Given the description of an element on the screen output the (x, y) to click on. 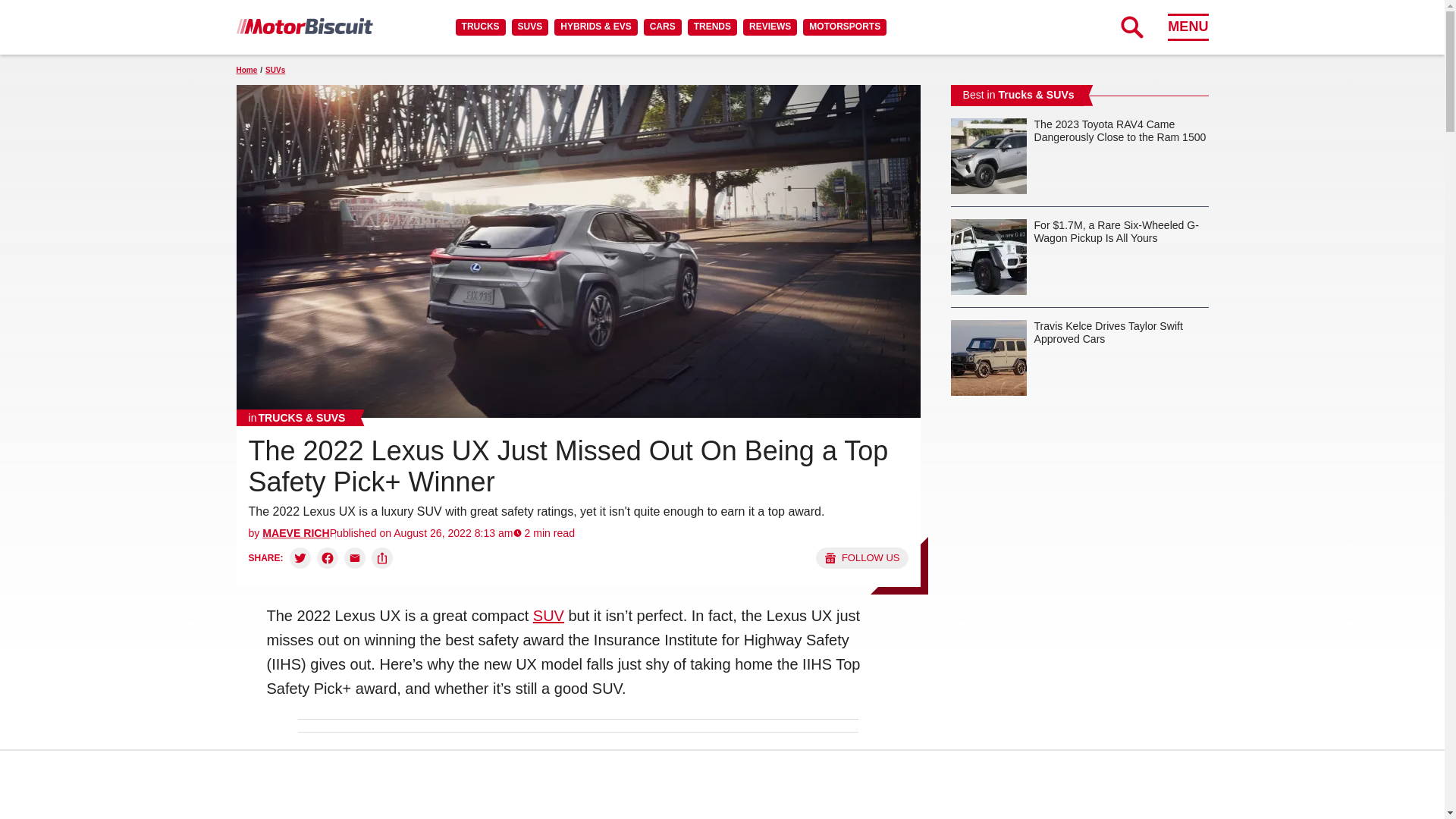
Copy link and share:  (382, 557)
REVIEWS (769, 26)
Expand Search (1131, 26)
MotorBiscuit (303, 26)
MENU (1187, 26)
TRENDS (711, 26)
TRUCKS (480, 26)
SUVS (530, 26)
Follow us on Google News (861, 557)
CARS (662, 26)
MOTORSPORTS (844, 26)
